Given the description of an element on the screen output the (x, y) to click on. 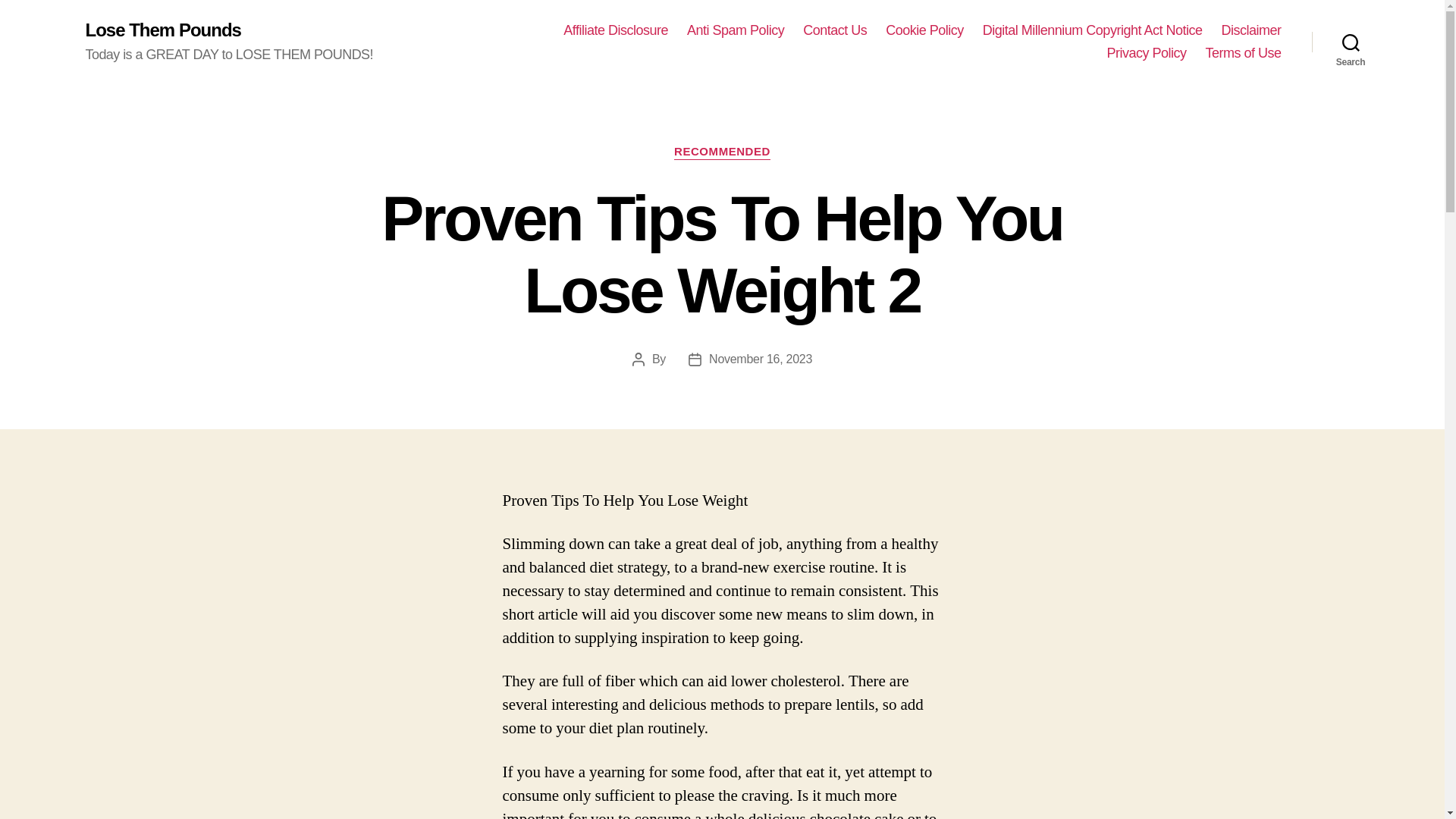
Search (1350, 41)
Terms of Use (1243, 53)
Affiliate Disclosure (615, 30)
Contact Us (834, 30)
November 16, 2023 (760, 358)
Disclaimer (1251, 30)
Lose Them Pounds (162, 30)
Anti Spam Policy (735, 30)
Cookie Policy (924, 30)
RECOMMENDED (722, 151)
